Given the description of an element on the screen output the (x, y) to click on. 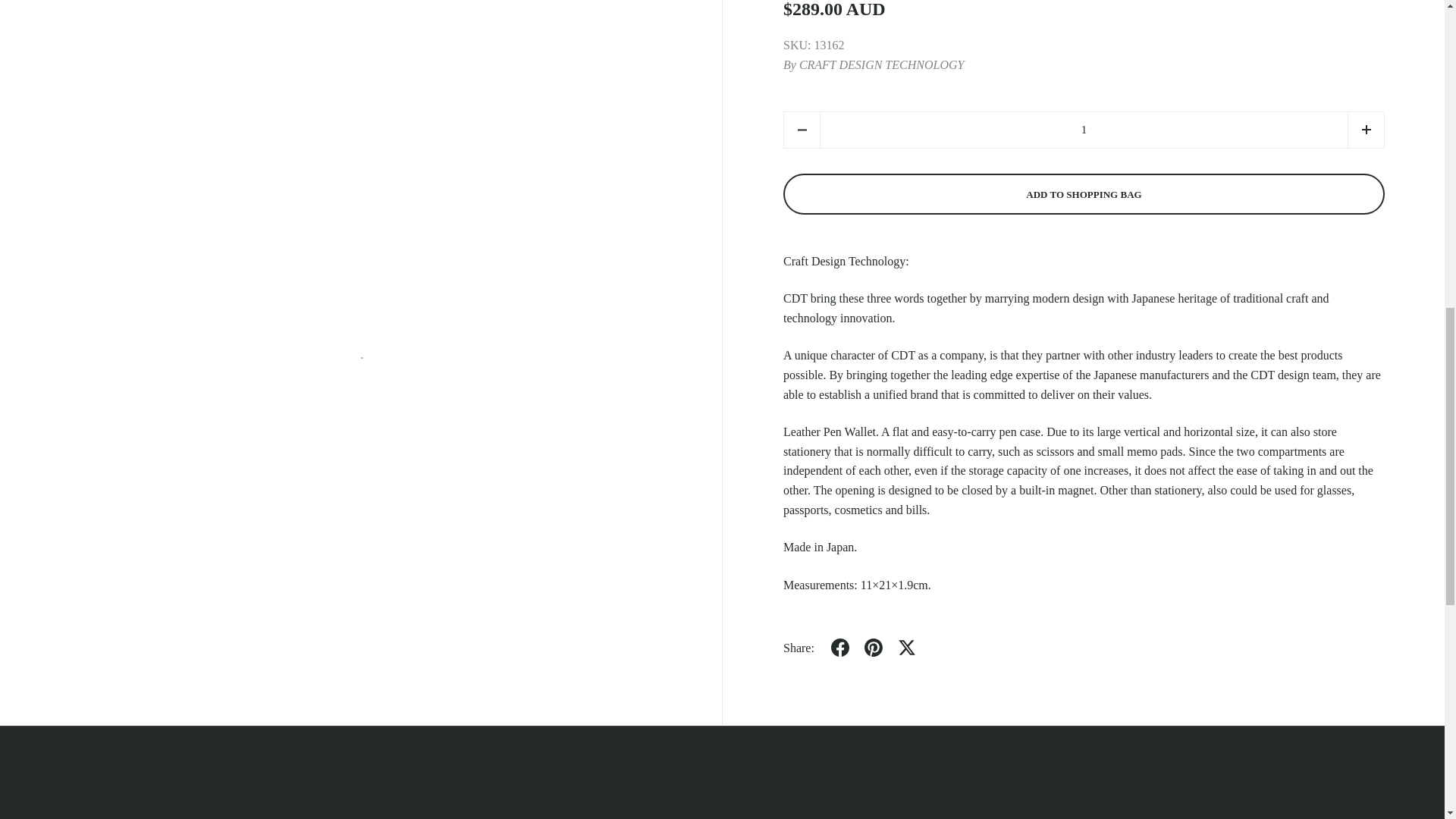
Share on Facebook (840, 79)
Share on Pinterest (873, 79)
